Given the description of an element on the screen output the (x, y) to click on. 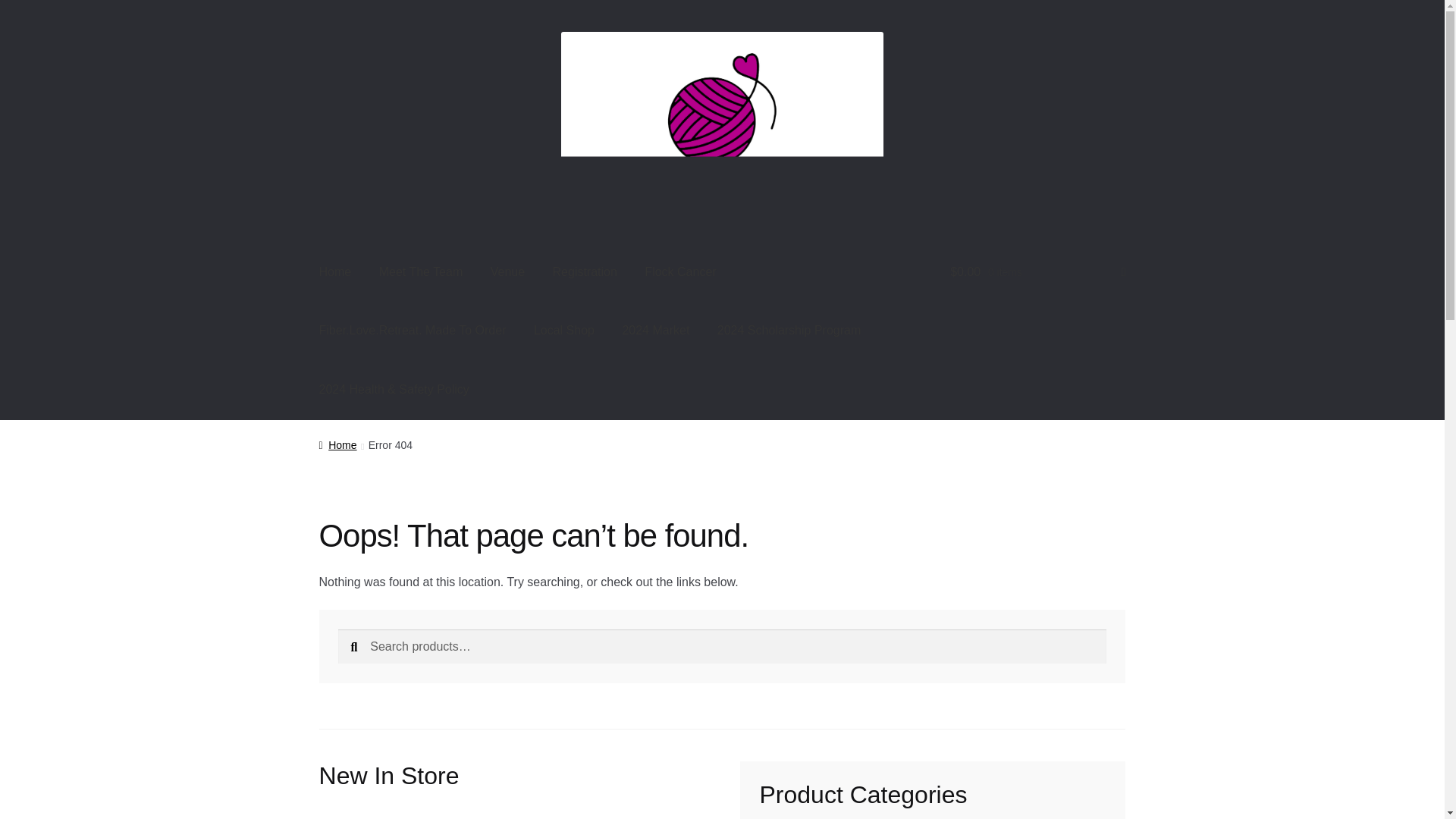
Venue (508, 272)
Flock Cancer (679, 272)
Home (337, 444)
Local Shop (564, 331)
Fiber.Love.Retreat. Made To Order (412, 331)
2024 Scholarship Program (788, 331)
Meet The Team (421, 272)
Registration (584, 272)
